Given the description of an element on the screen output the (x, y) to click on. 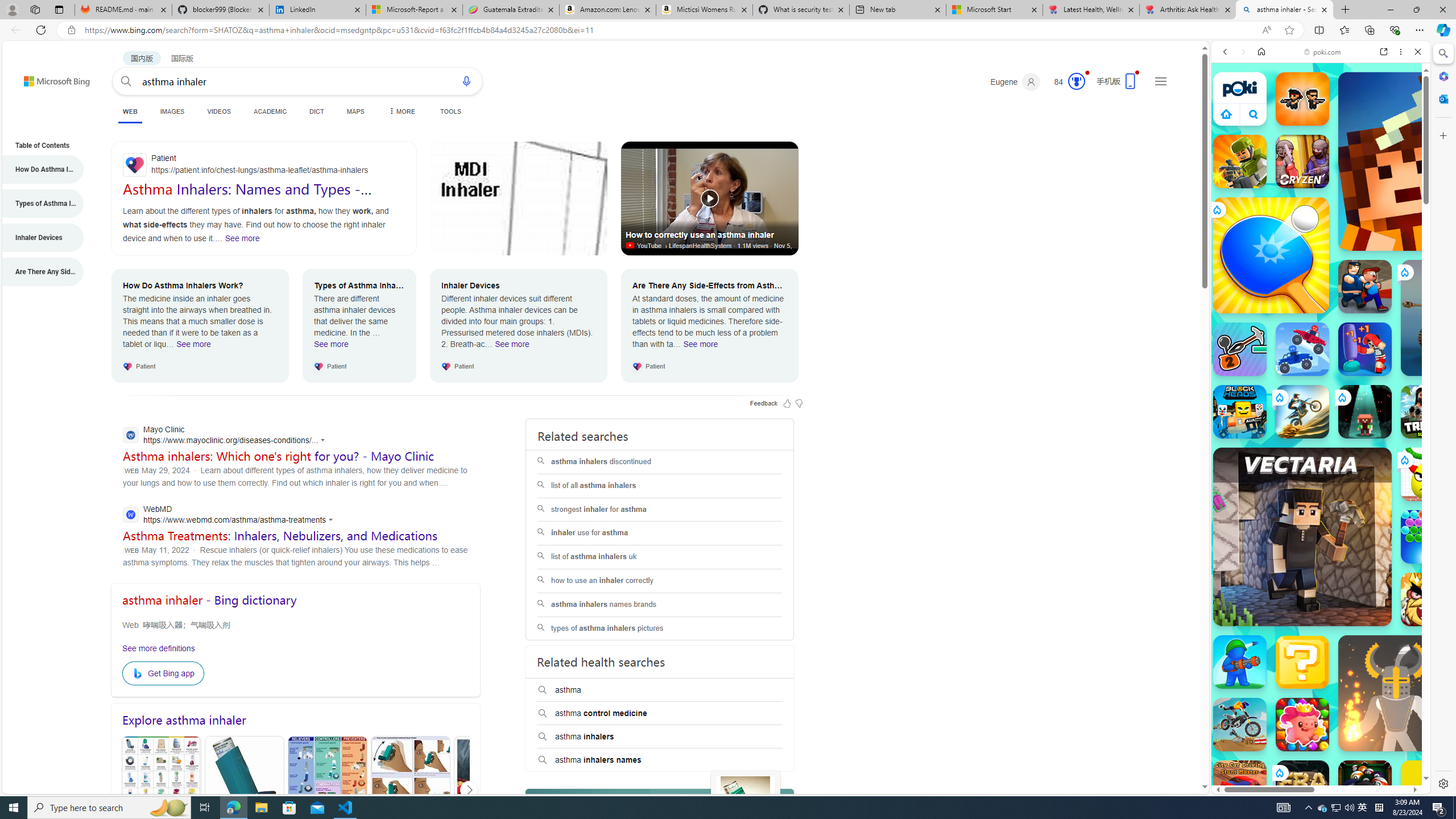
Click to scroll right (1407, 549)
AutomationID: serp_medal_svg (1076, 81)
Match Arena (1302, 724)
asthma inhalers names brands (659, 604)
Like a King Like a King (1427, 599)
Animation (1086, 72)
Asthma Treatments: Inhalers, Nebulizers, and Medications (280, 535)
Tribals.io Tribals.io (1427, 411)
Hills of Steel (1264, 580)
WEB (129, 112)
AutomationID: mfa_root (1161, 752)
